Given the description of an element on the screen output the (x, y) to click on. 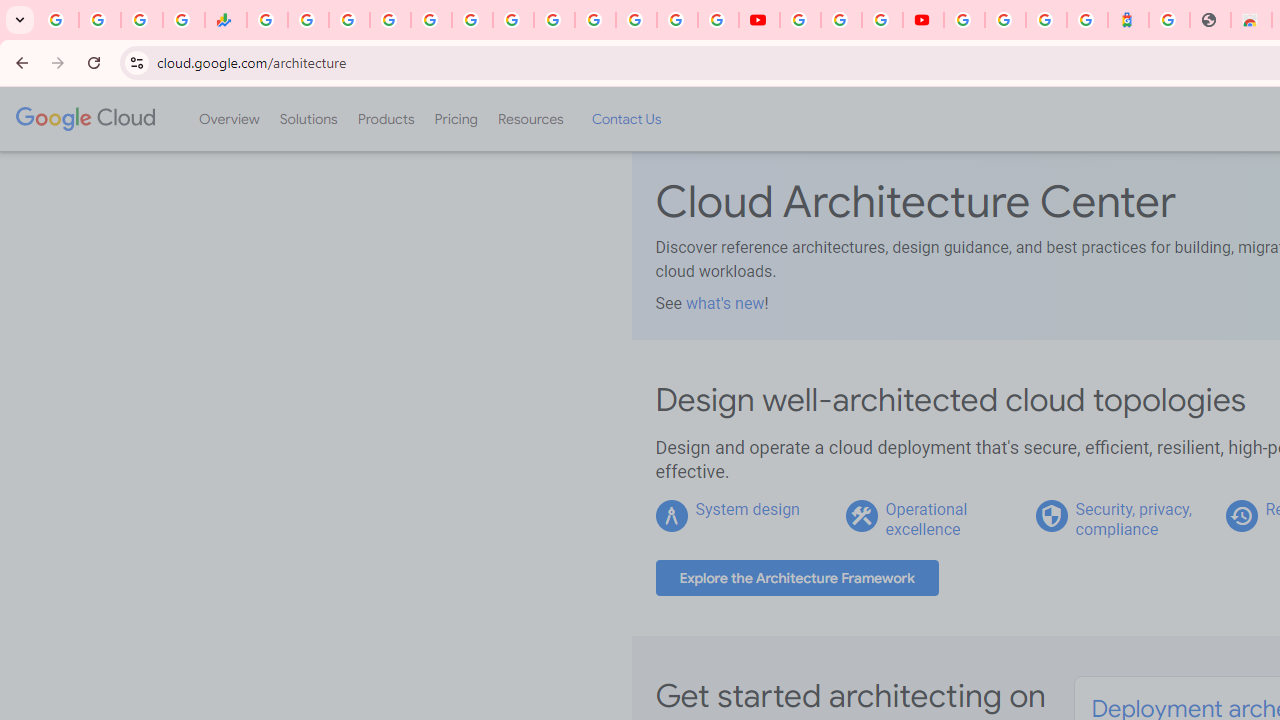
Atour Hotel - Google hotels (1128, 20)
Sign in - Google Accounts (1005, 20)
YouTube (758, 20)
Google Account Help (840, 20)
Google Cloud (84, 118)
Products (385, 119)
Resources (530, 119)
Explore the Architecture Framework (797, 578)
Security, privacy, compliance (1133, 519)
